Given the description of an element on the screen output the (x, y) to click on. 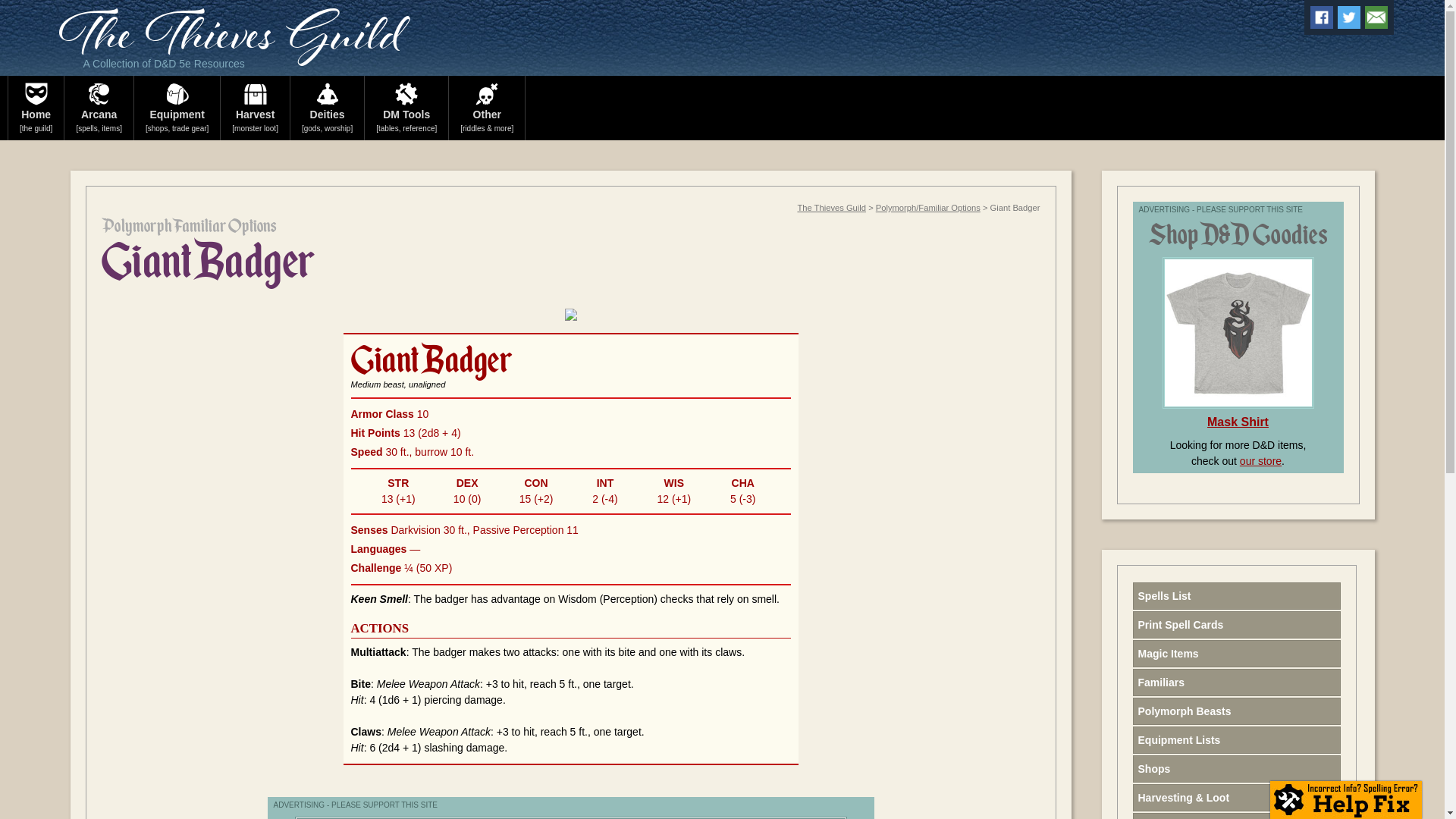
Harvesting & Loot Element type: text (1236, 797)
Familiars Element type: text (1236, 682)
Harvest
[monster loot] Element type: text (255, 107)
The Thieves Guild Element type: text (831, 207)
Magic Items Element type: text (1236, 653)
Print Spell Cards Element type: text (1236, 624)
Mask Shirt Element type: text (1237, 421)
Deities
[gods, worship] Element type: text (327, 107)
Shops Element type: text (1236, 768)
Spells List Element type: text (1236, 595)
Arcana
[spells, items] Element type: text (99, 107)
Polymorph/Familiar Options Element type: text (927, 207)
The Thieves Guild Element type: text (230, 41)
Home
[the guild] Element type: text (35, 107)
our store Element type: text (1260, 461)
Other
[riddles & more] Element type: text (486, 107)
DM Tools
[tables, reference] Element type: text (406, 107)
Equipment Lists Element type: text (1236, 739)
Polymorph Beasts Element type: text (1236, 710)
Equipment
[shops, trade gear] Element type: text (177, 107)
